Given the description of an element on the screen output the (x, y) to click on. 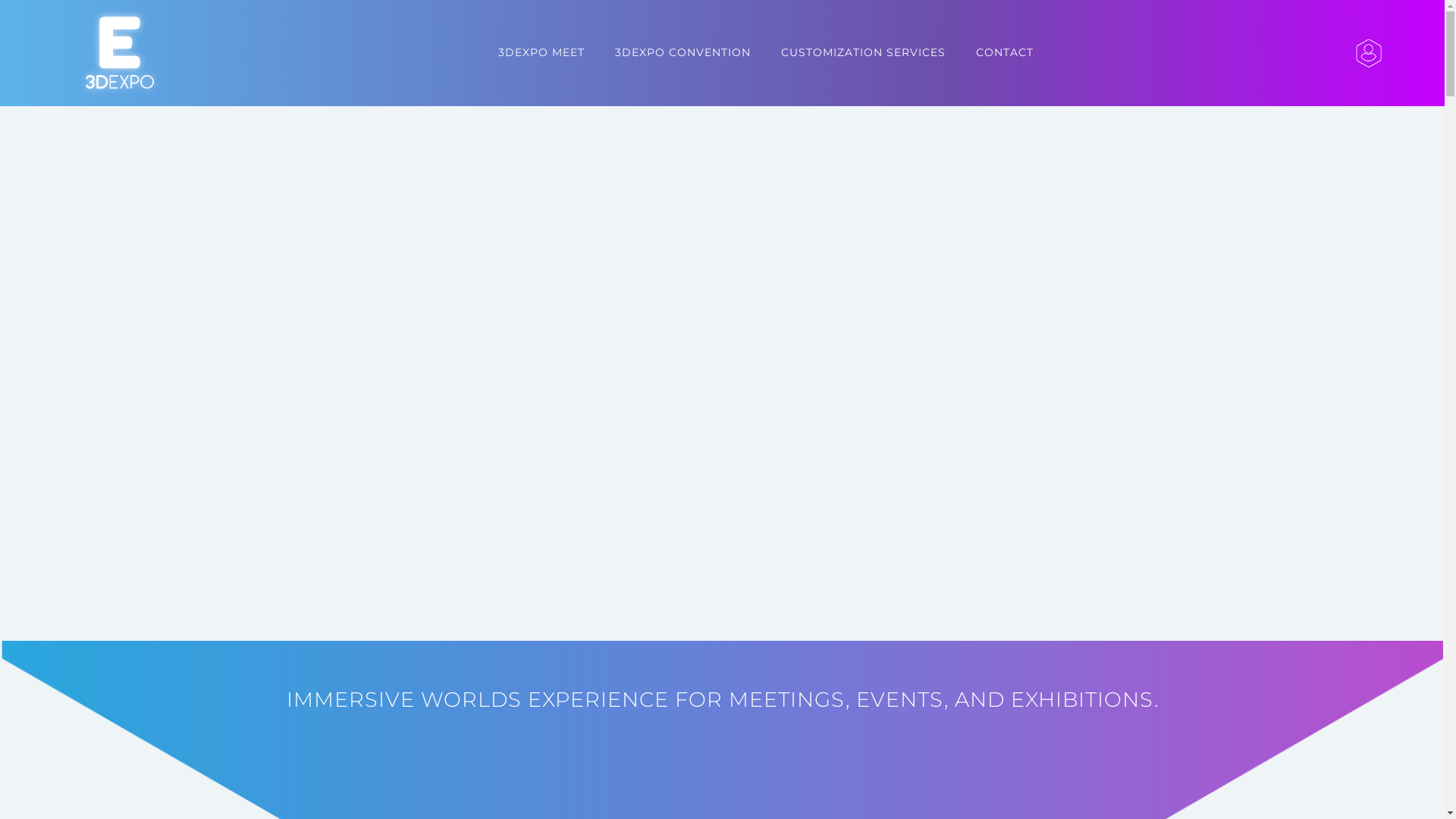
CONTACT Element type: text (1004, 51)
3DEXPO CONVENTION Element type: text (682, 51)
3DEXPO MEET Element type: text (541, 51)
CUSTOMIZATION SERVICES Element type: text (863, 51)
